Given the description of an element on the screen output the (x, y) to click on. 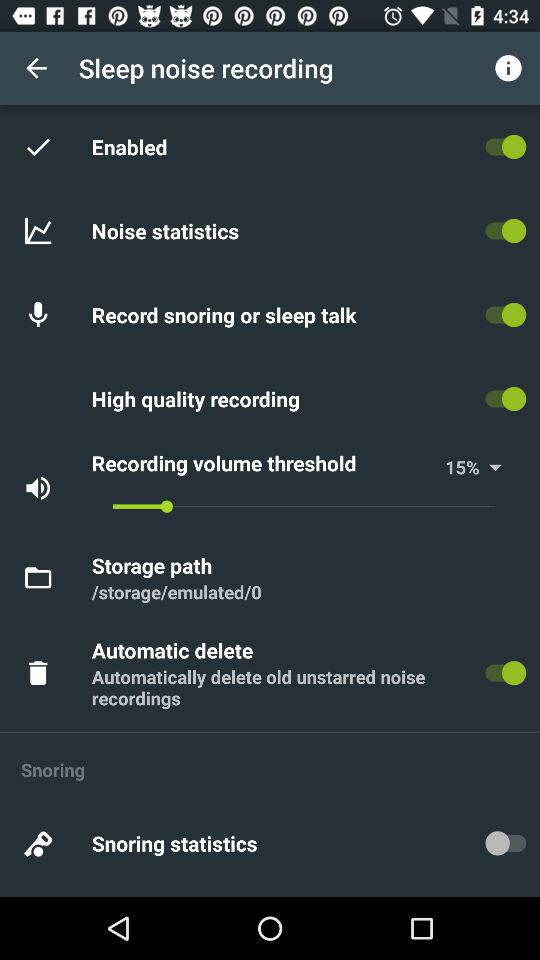
tap the item below the sleep noise recording icon (132, 146)
